Given the description of an element on the screen output the (x, y) to click on. 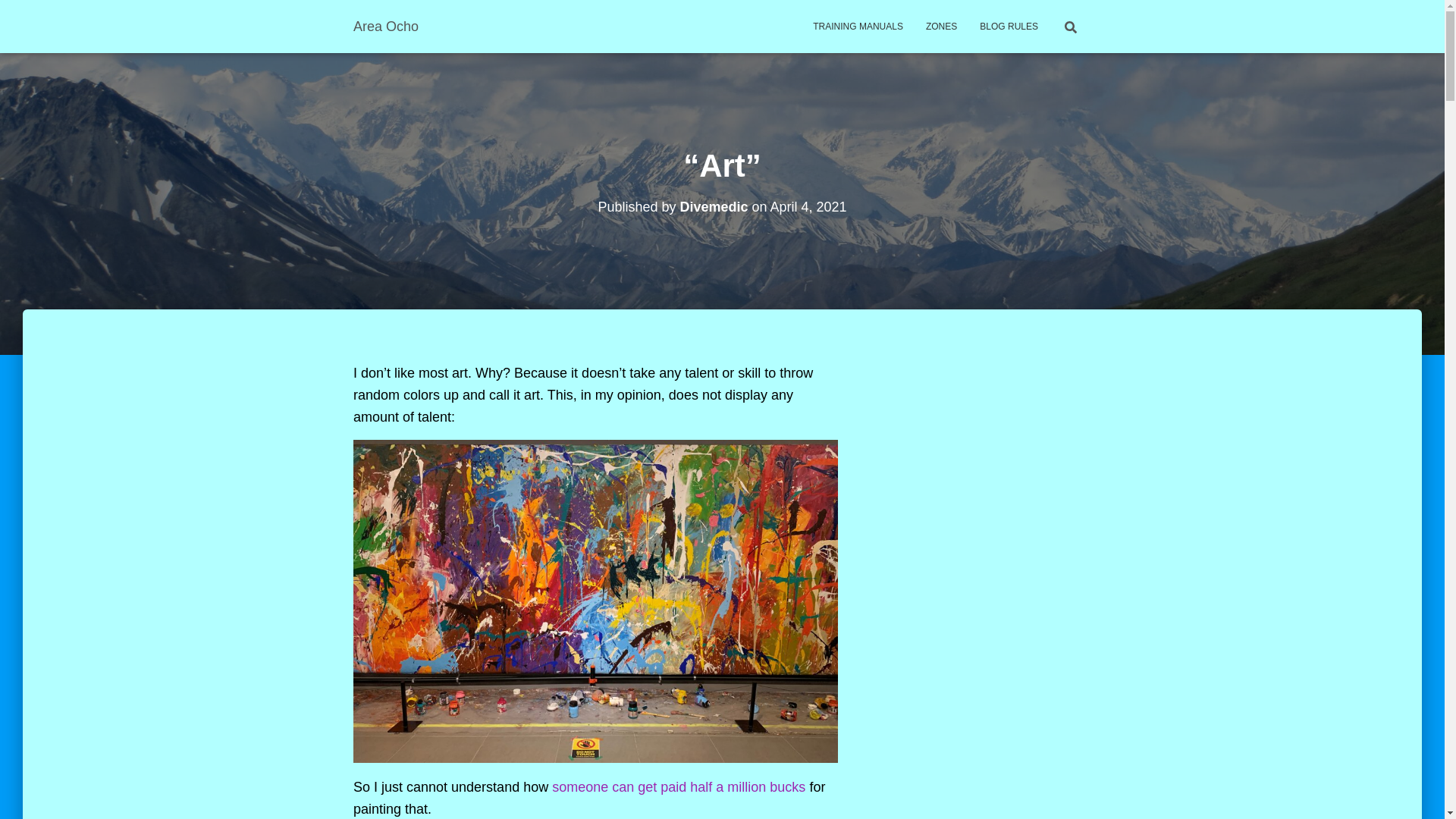
someone can get paid half a million bucks (678, 786)
Search (3, 16)
Area Ocho (385, 26)
BLOG RULES (1008, 26)
Area Ocho (385, 26)
Zones (941, 26)
TRAINING MANUALS (858, 26)
ZONES (941, 26)
Divemedic (713, 206)
Training Manuals (858, 26)
Blog Rules (1008, 26)
